Given the description of an element on the screen output the (x, y) to click on. 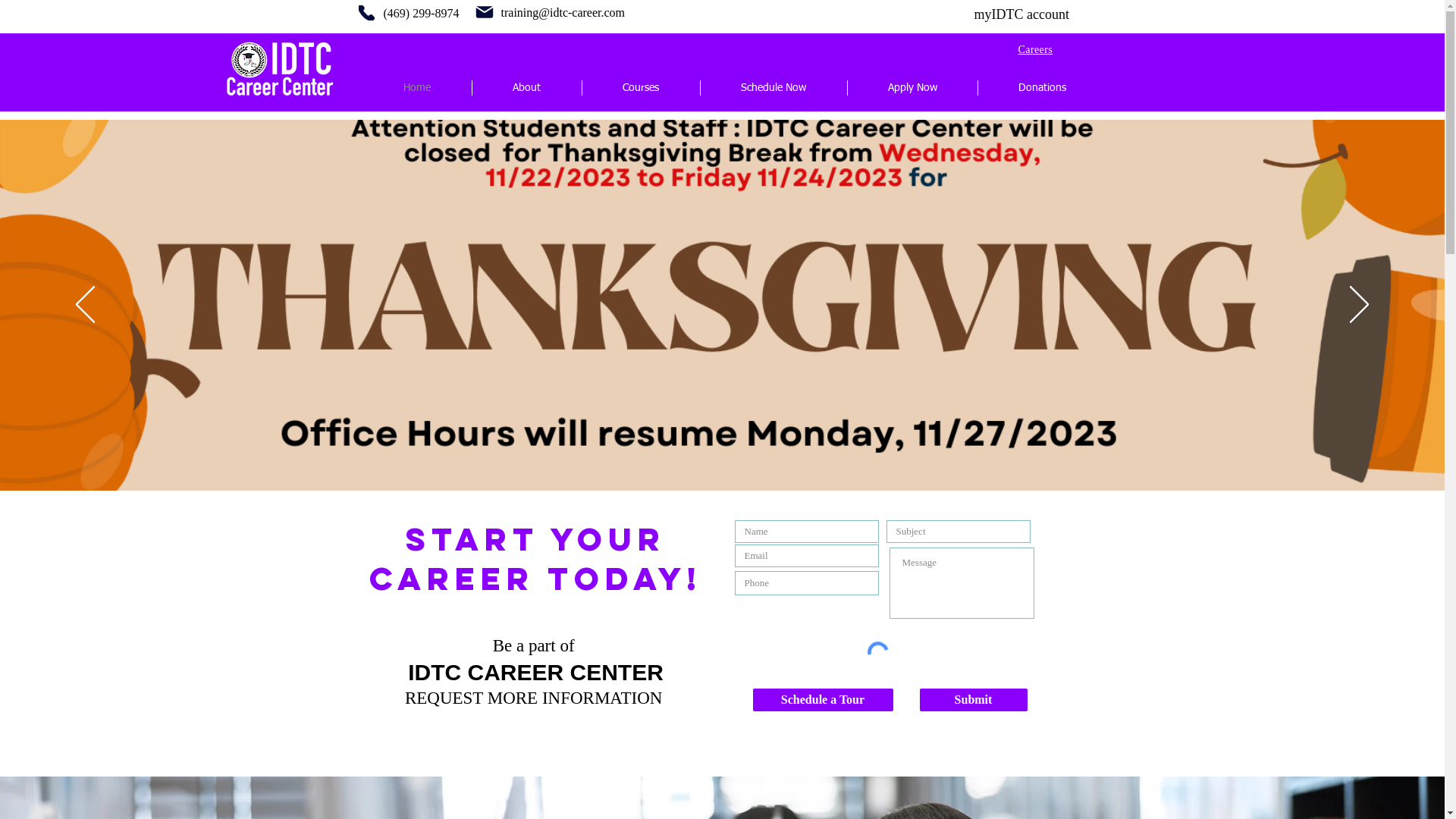
Donations Element type: text (1042, 87)
Apply Now Element type: text (912, 87)
Careers Element type: text (1034, 49)
Courses Element type: text (640, 87)
(469) 299-8974 Element type: text (421, 12)
Schedule Now Element type: text (773, 87)
Schedule a Tour Element type: text (822, 699)
Submit Element type: text (972, 699)
About Element type: text (525, 87)
training@idtc-career.com Element type: text (562, 12)
Home Element type: text (416, 87)
myIDTC account Element type: text (1020, 13)
